Given the description of an element on the screen output the (x, y) to click on. 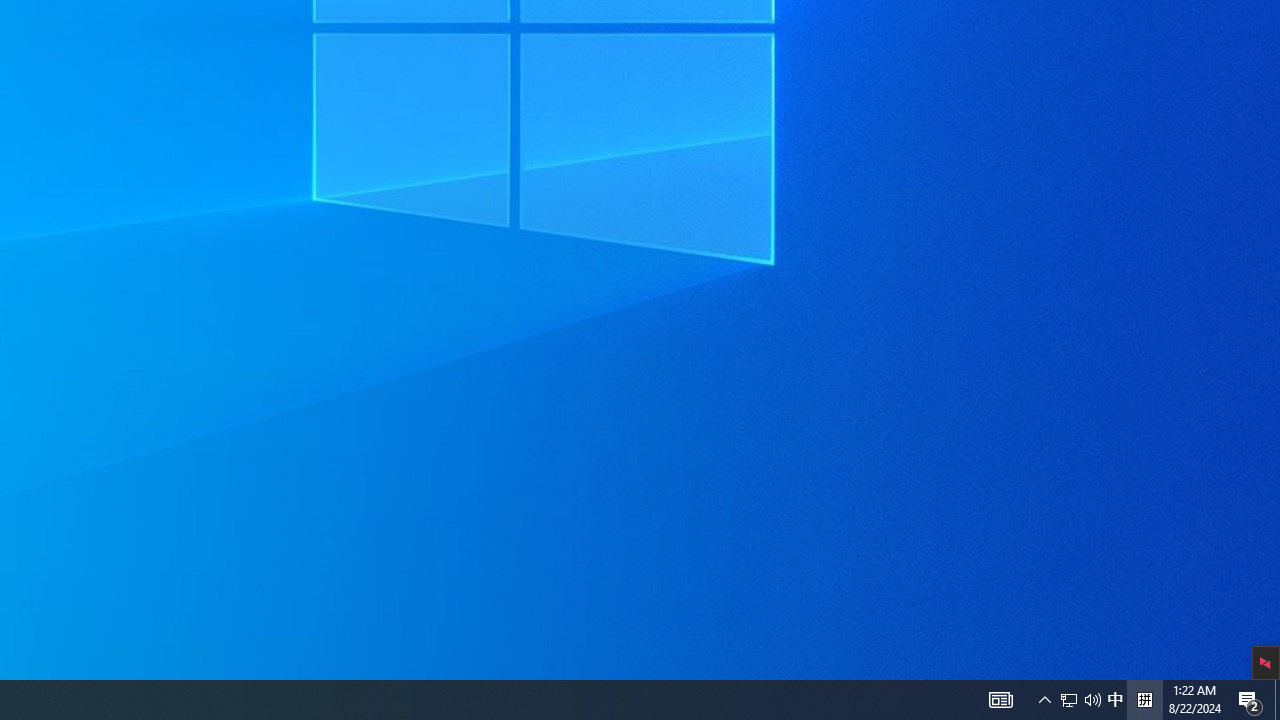
Tray Input Indicator - Chinese (Simplified, China) (1144, 699)
Show desktop (1069, 699)
Action Center, 2 new notifications (1115, 699)
Notification Chevron (1277, 699)
Q2790: 100% (1250, 699)
AutomationID: 4105 (1044, 699)
User Promoted Notification Area (1092, 699)
